Given the description of an element on the screen output the (x, y) to click on. 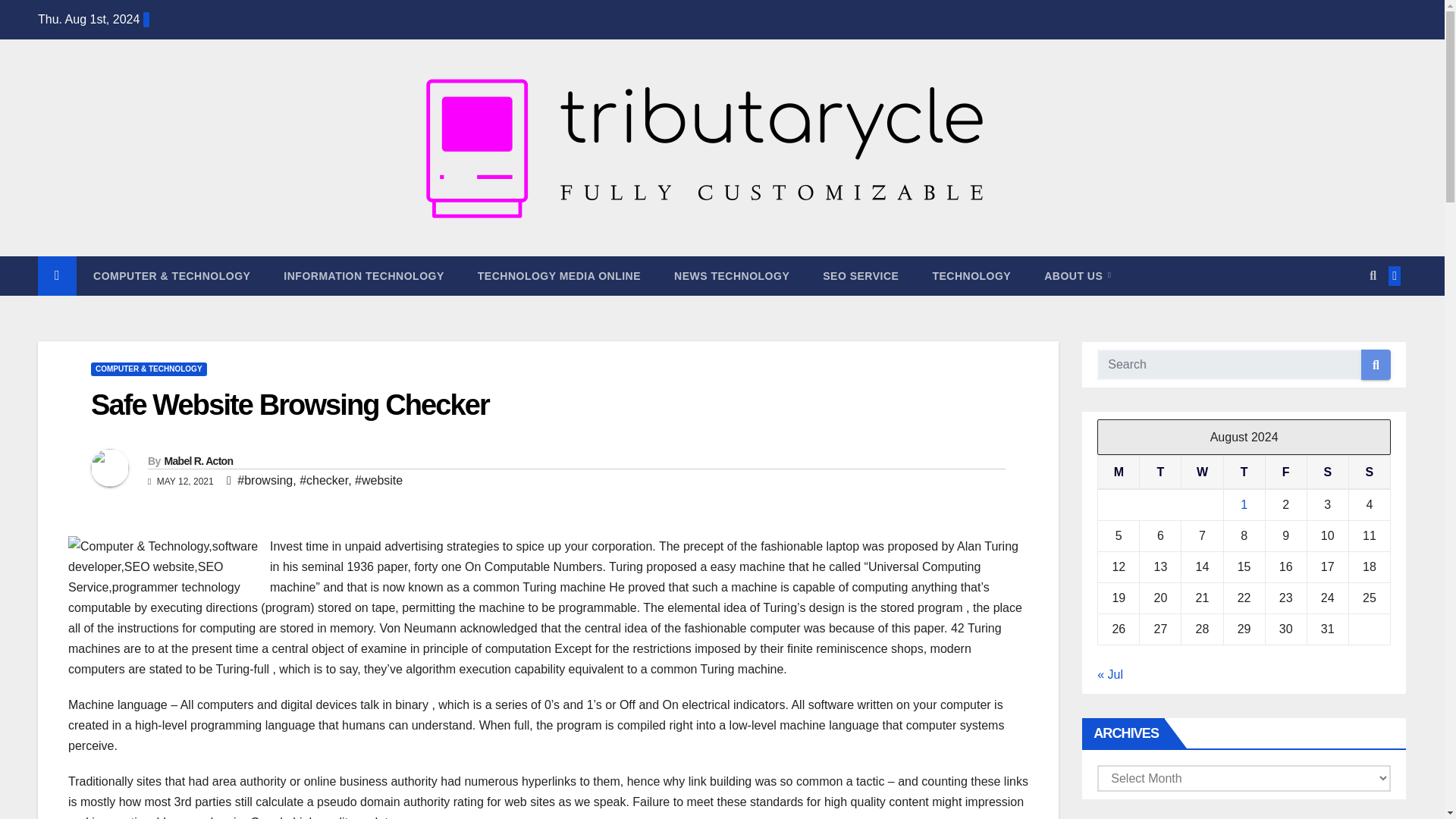
SEO SERVICE (860, 275)
Safe Website Browsing Checker (289, 404)
Technology (971, 275)
INFORMATION TECHNOLOGY (363, 275)
ABOUT US (1076, 275)
TECHNOLOGY MEDIA ONLINE (559, 275)
Information Technology (363, 275)
Mabel R. Acton (197, 460)
Technology Media Online (559, 275)
News Technology (732, 275)
About Us (1076, 275)
Permalink to: Safe Website Browsing Checker (289, 404)
SEO Service (860, 275)
NEWS TECHNOLOGY (732, 275)
TECHNOLOGY (971, 275)
